Given the description of an element on the screen output the (x, y) to click on. 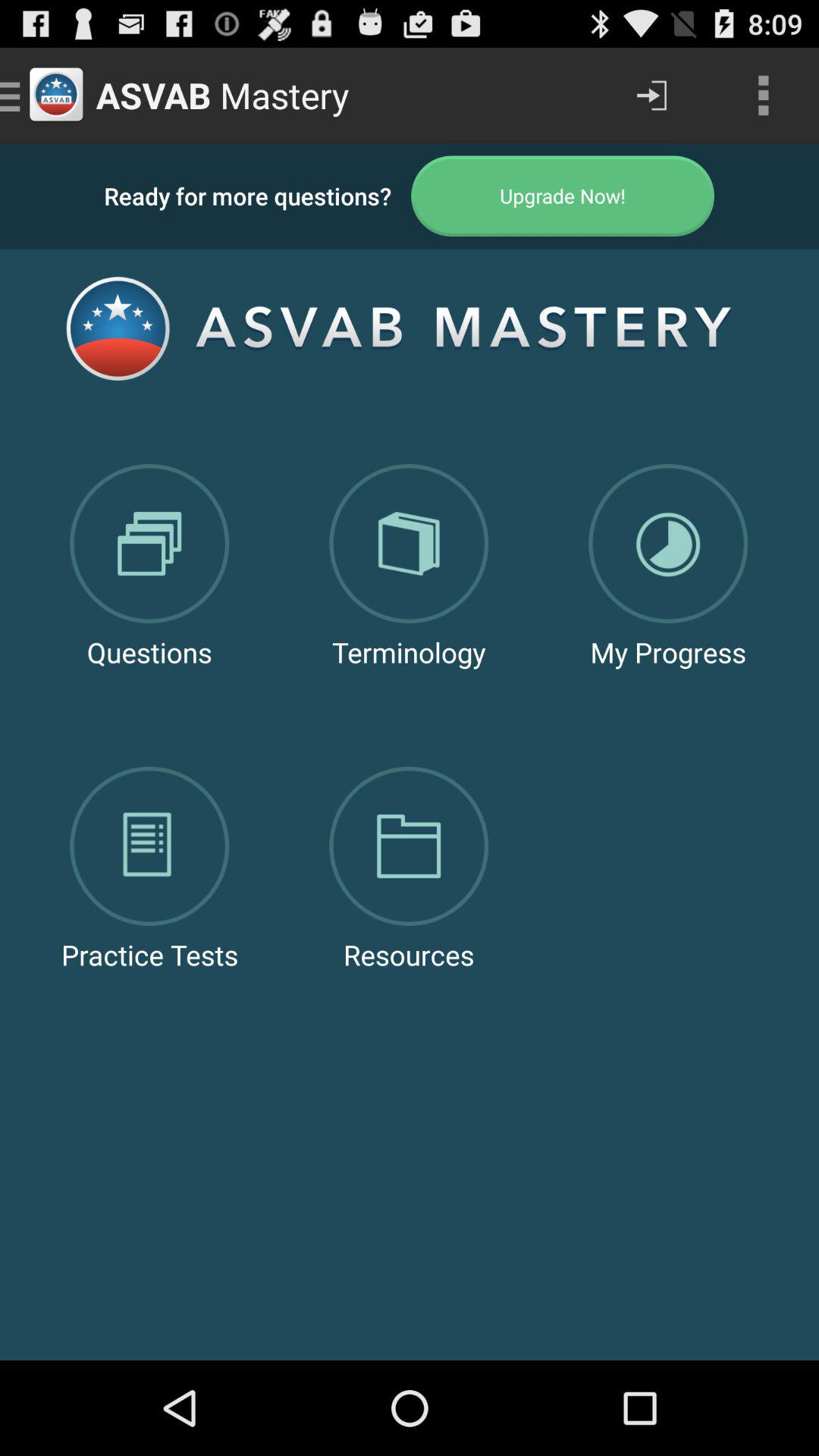
turn off the app next to the ready for more (562, 195)
